Given the description of an element on the screen output the (x, y) to click on. 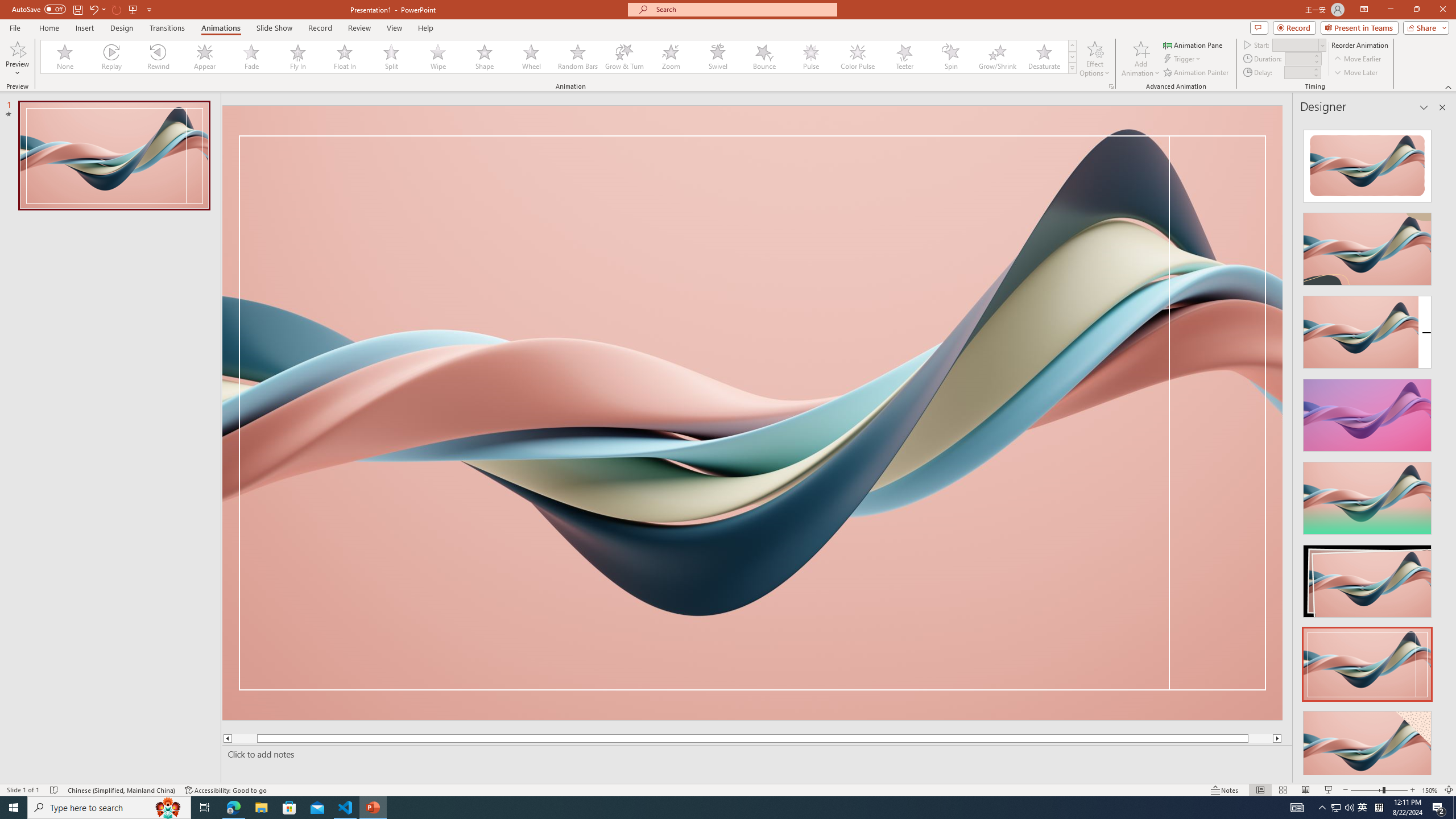
Wheel (531, 56)
Move Later (1355, 72)
Recommended Design: Design Idea (1366, 162)
Animation Styles (1071, 67)
Trigger (1182, 58)
